Given the description of an element on the screen output the (x, y) to click on. 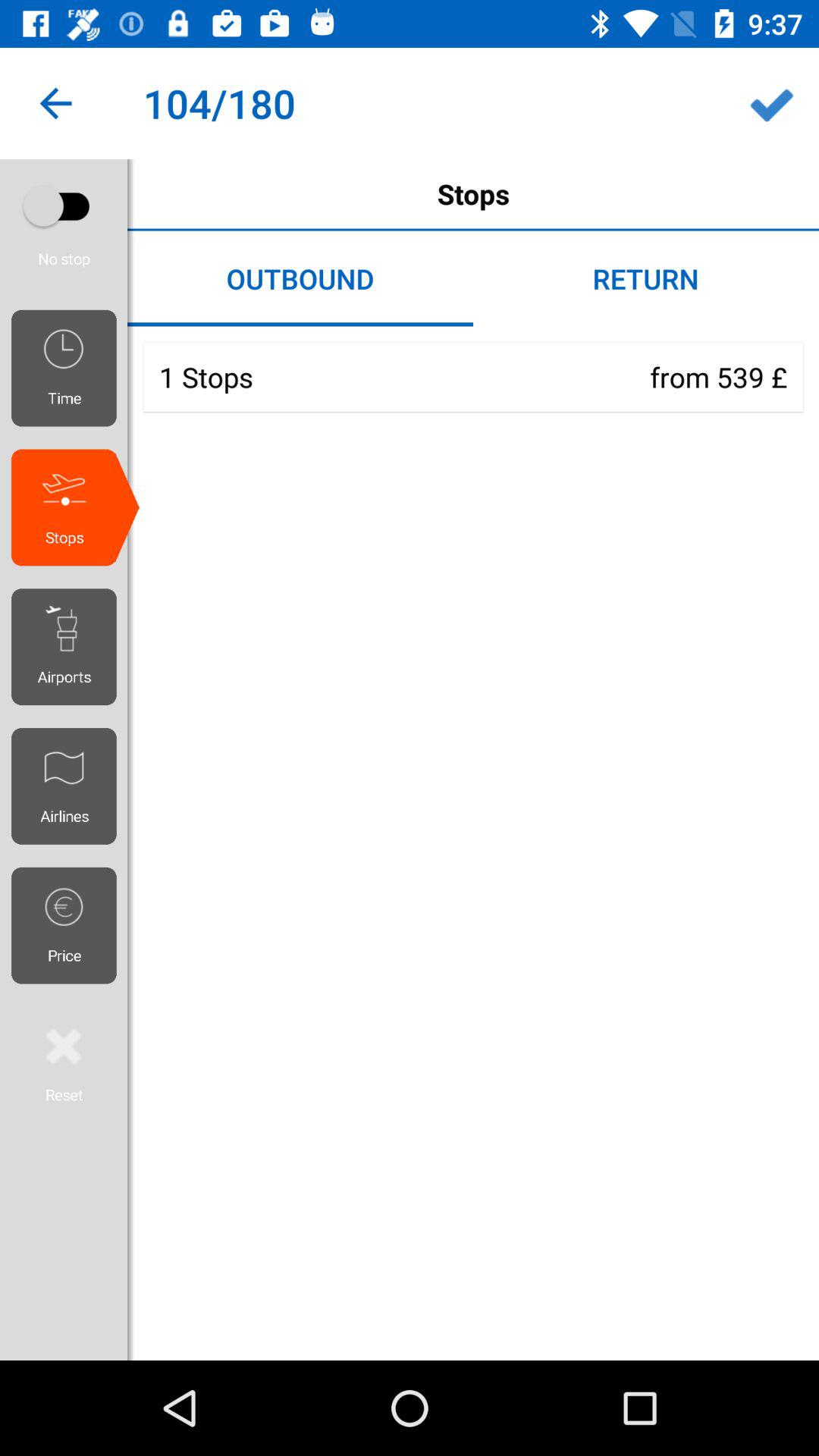
press the item to the left of stops (63, 206)
